Given the description of an element on the screen output the (x, y) to click on. 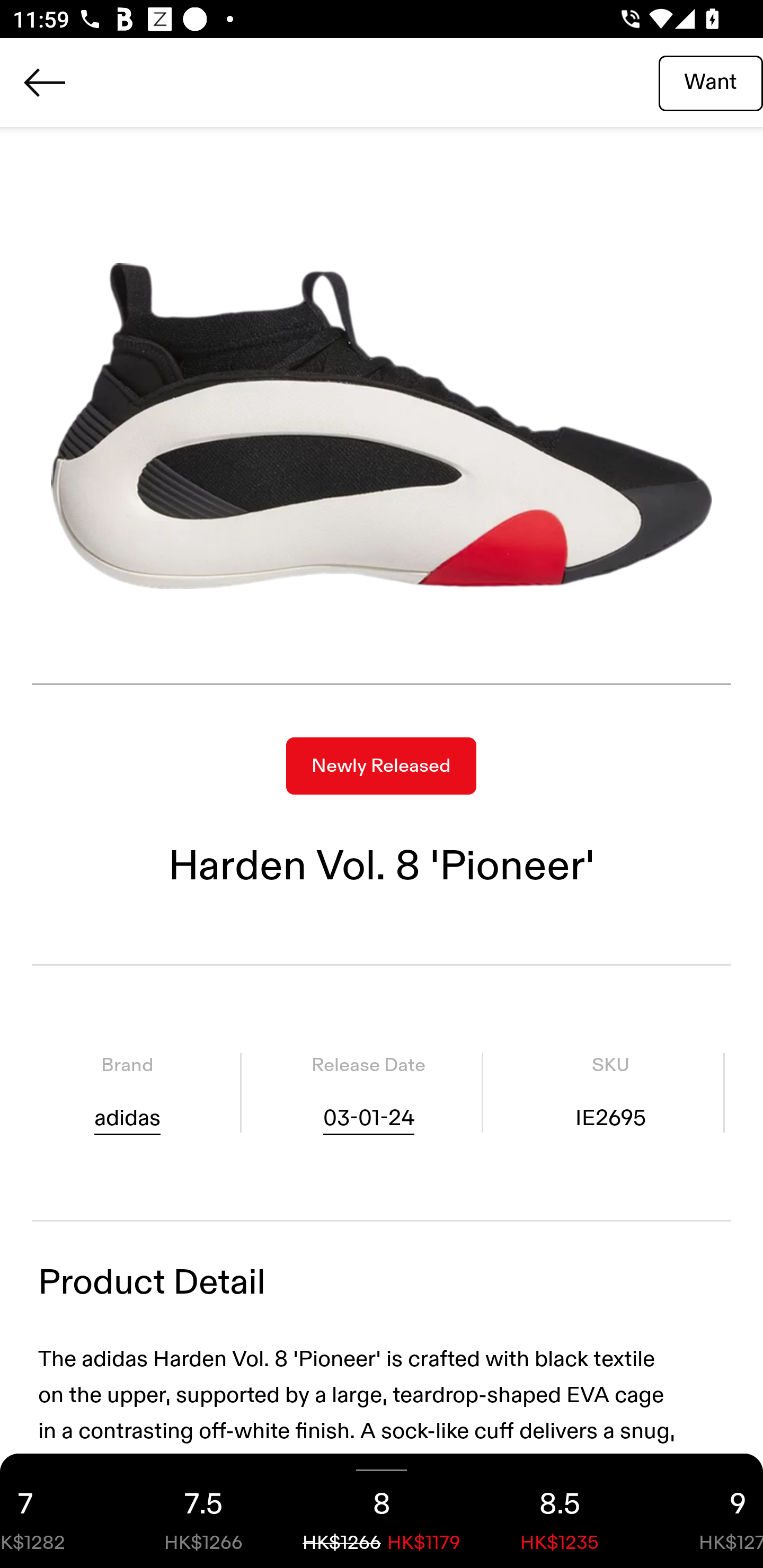
Want (710, 82)
Newly Released (381, 765)
Brand adidas (126, 1092)
Release Date 03-01-24 (368, 1092)
SKU IE2695 (609, 1092)
7 HK$1282 (57, 1510)
7.5 HK$1266 (203, 1510)
8 HK$1266 HK$1179 (381, 1510)
8.5 HK$1235 (559, 1510)
9 HK$1274 (705, 1510)
